Given the description of an element on the screen output the (x, y) to click on. 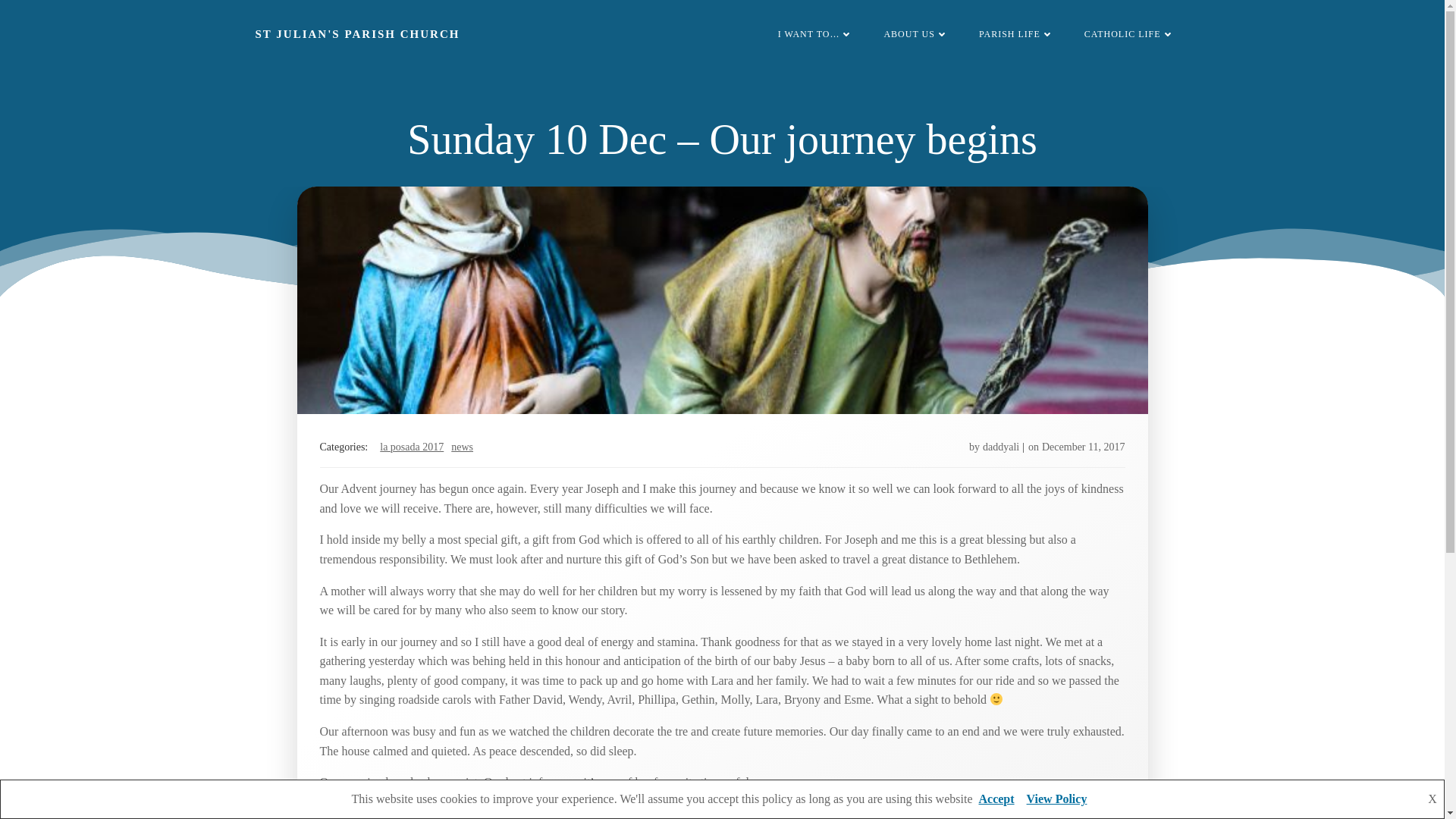
fa fa-church (915, 33)
ST JULIAN'S PARISH CHURCH (357, 34)
ABOUT US (915, 33)
fa fa-comment-dots (815, 33)
PARISH LIFE (1016, 33)
fa fa-child (1016, 33)
CATHOLIC LIFE (1129, 33)
fa fa-cross (1129, 33)
